Given the description of an element on the screen output the (x, y) to click on. 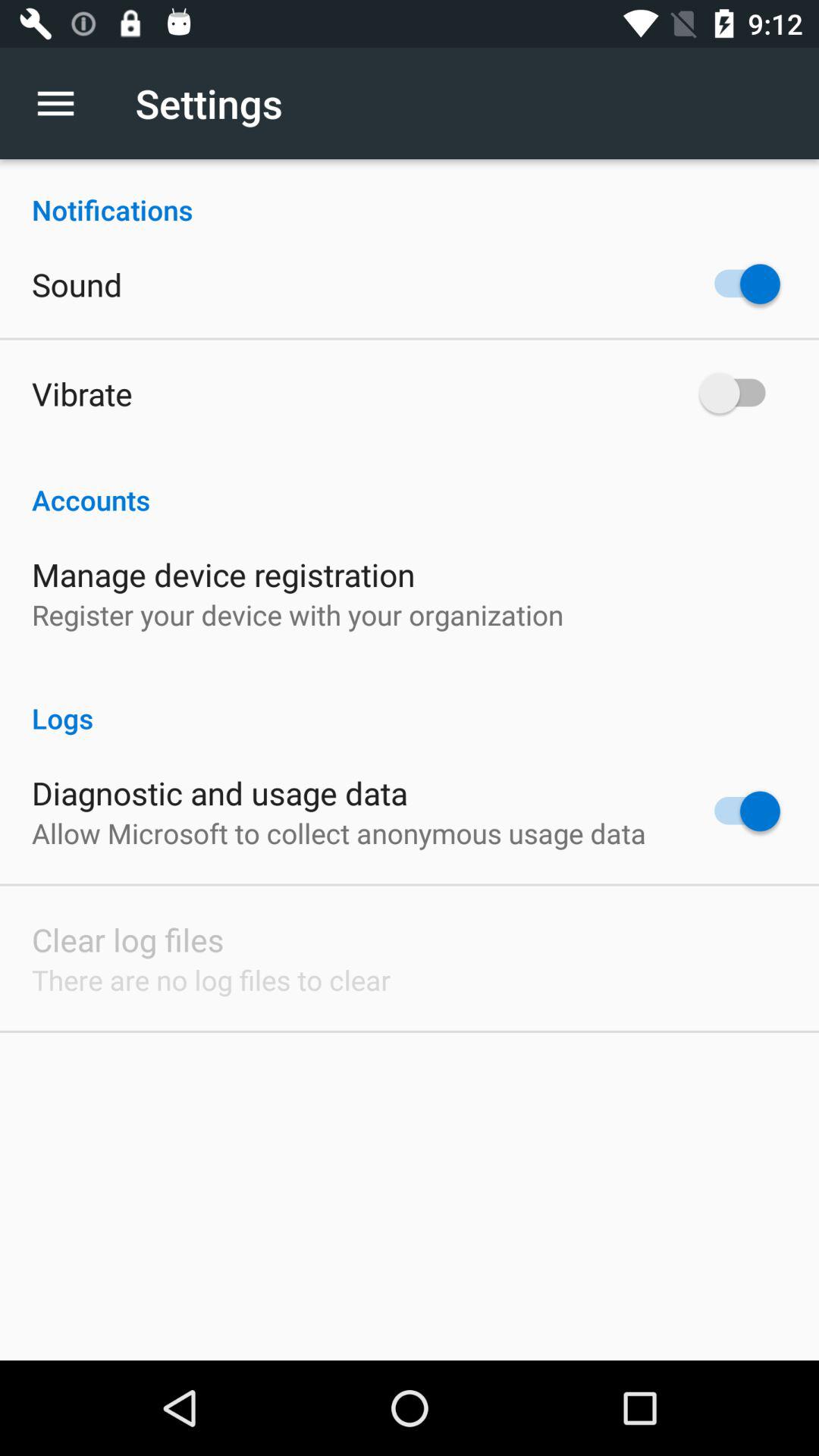
launch item above the vibrate item (76, 283)
